Given the description of an element on the screen output the (x, y) to click on. 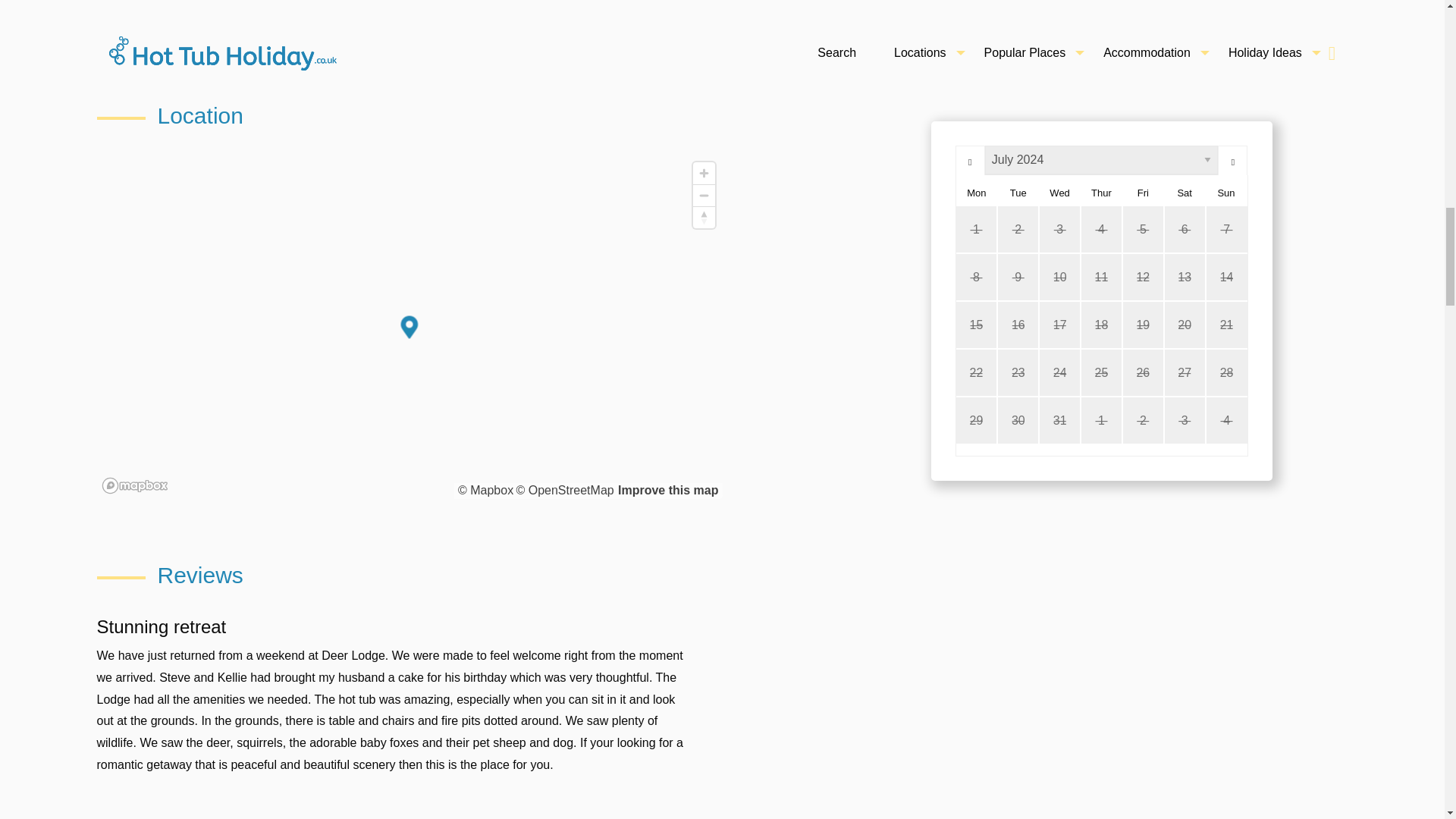
Zoom in (703, 173)
Mapbox (485, 490)
Reset bearing to north (703, 217)
OpenStreetMap (563, 490)
Zoom out (703, 195)
Map feedback (667, 490)
